Given the description of an element on the screen output the (x, y) to click on. 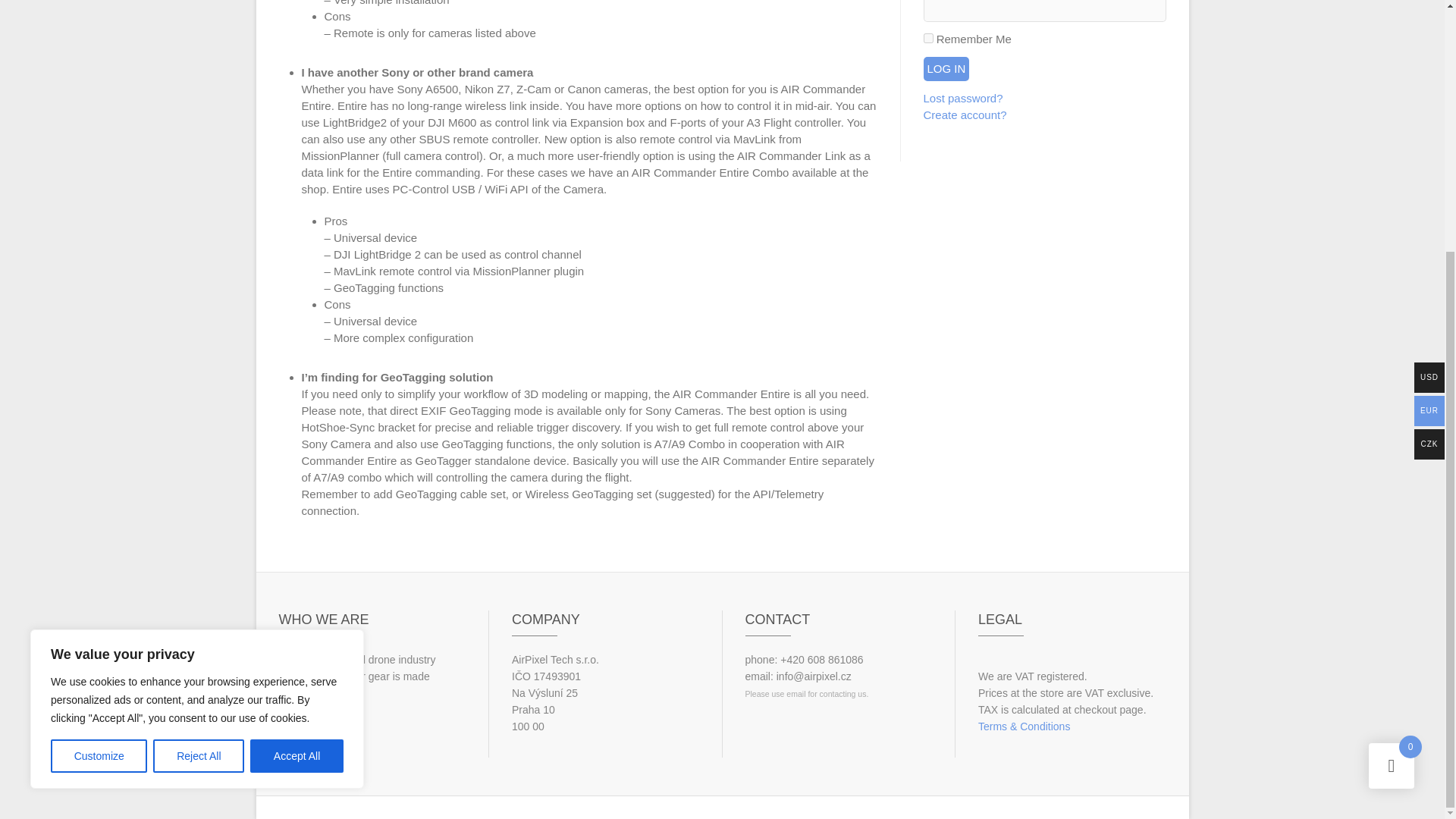
Log In (946, 68)
Reject All (198, 400)
Customize (98, 400)
forever (928, 38)
Accept All (296, 400)
